Given the description of an element on the screen output the (x, y) to click on. 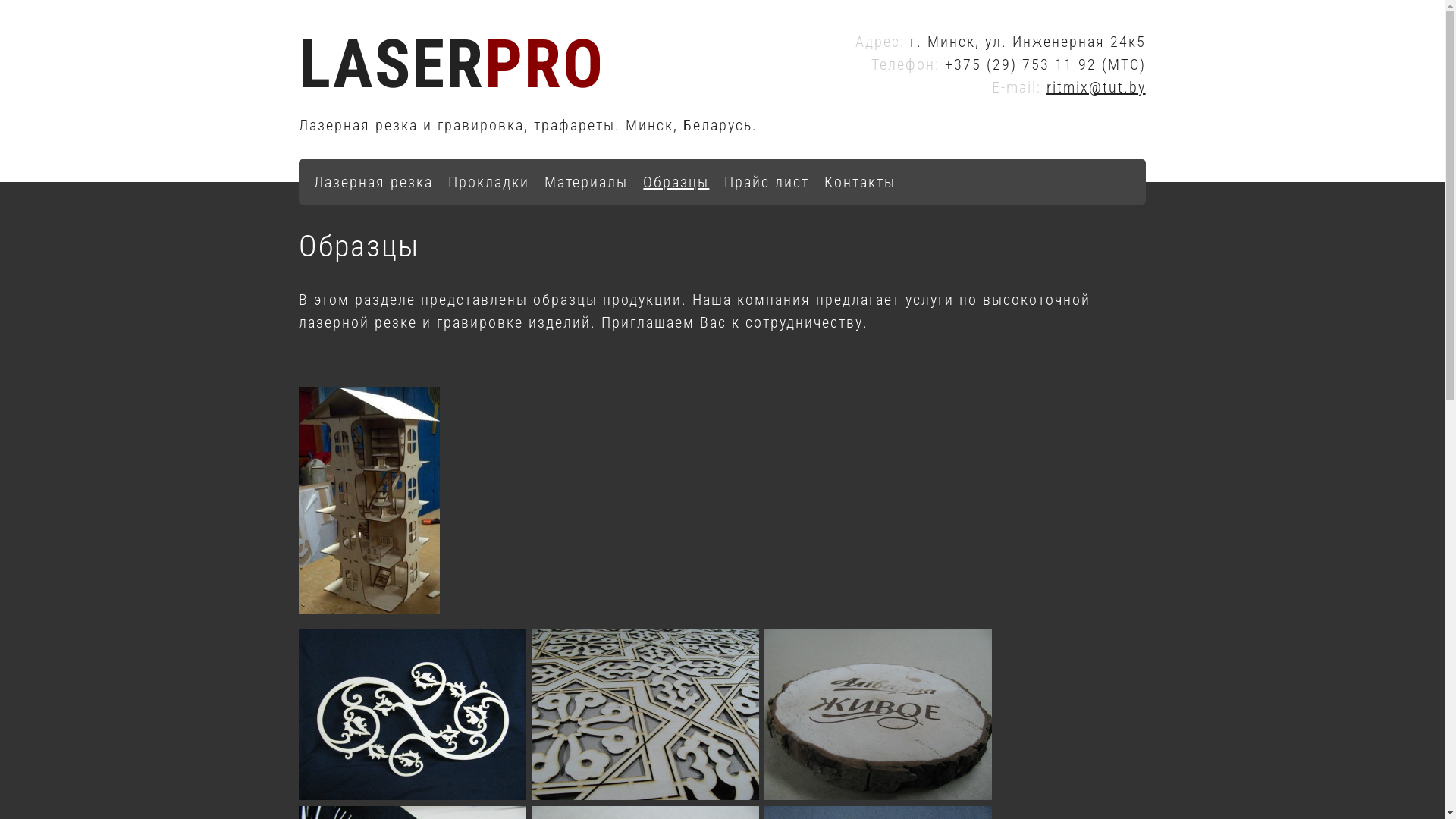
LASERPRO Element type: text (451, 64)
ritmix@tut.by Element type: text (1095, 87)
